Given the description of an element on the screen output the (x, y) to click on. 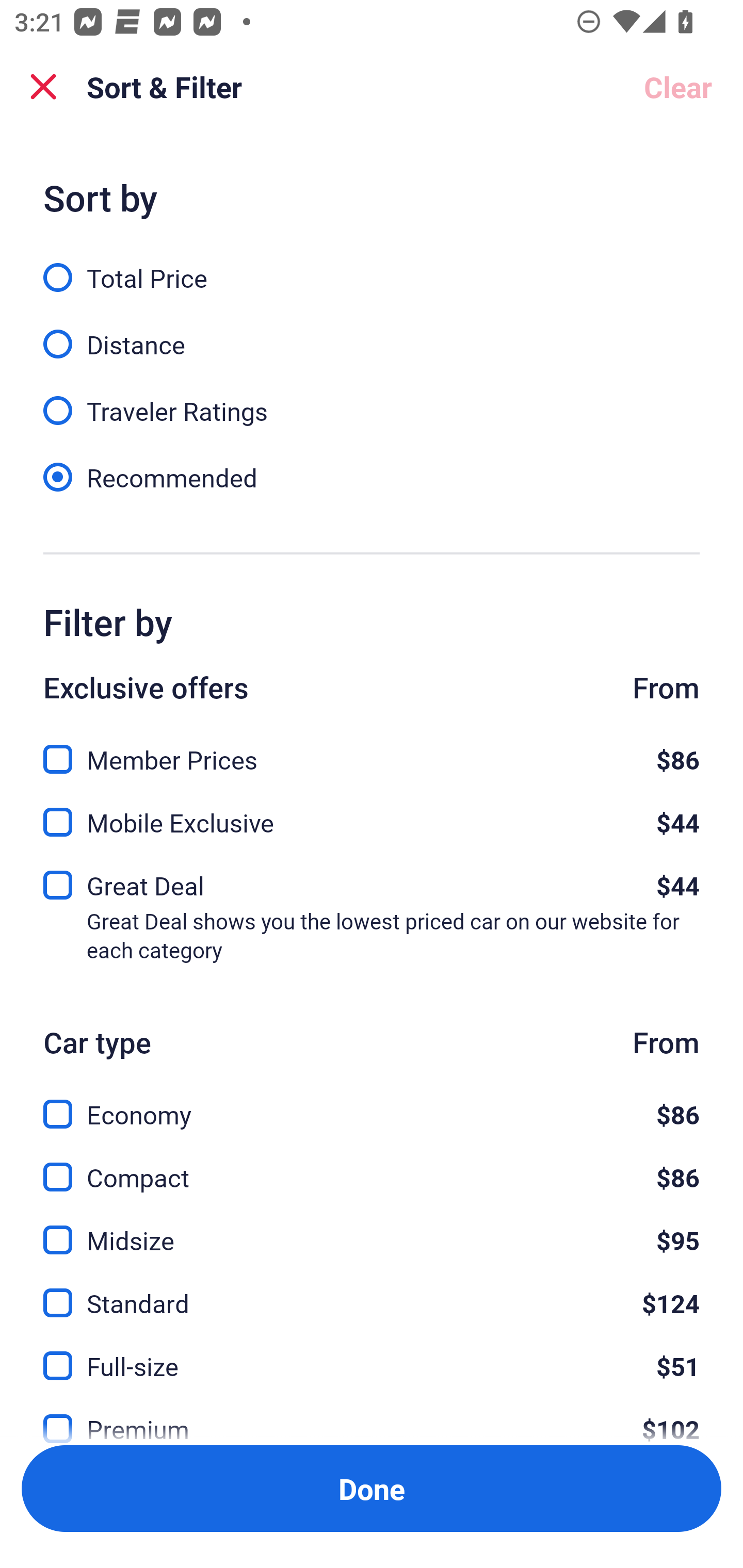
Close Sort and Filter (43, 86)
Clear (677, 86)
Total Price (371, 266)
Distance (371, 332)
Traveler Ratings (371, 399)
Member Prices, $86 Member Prices $86 (371, 747)
Mobile Exclusive, $44 Mobile Exclusive $44 (371, 816)
Economy, $86 Economy $86 (371, 1101)
Compact, $86 Compact $86 (371, 1164)
Midsize, $95 Midsize $95 (371, 1228)
Standard, $124 Standard $124 (371, 1291)
Full-size, $51 Full-size $51 (371, 1354)
Premium, $102 Premium $102 (371, 1415)
Apply and close Sort and Filter Done (371, 1488)
